Given the description of an element on the screen output the (x, y) to click on. 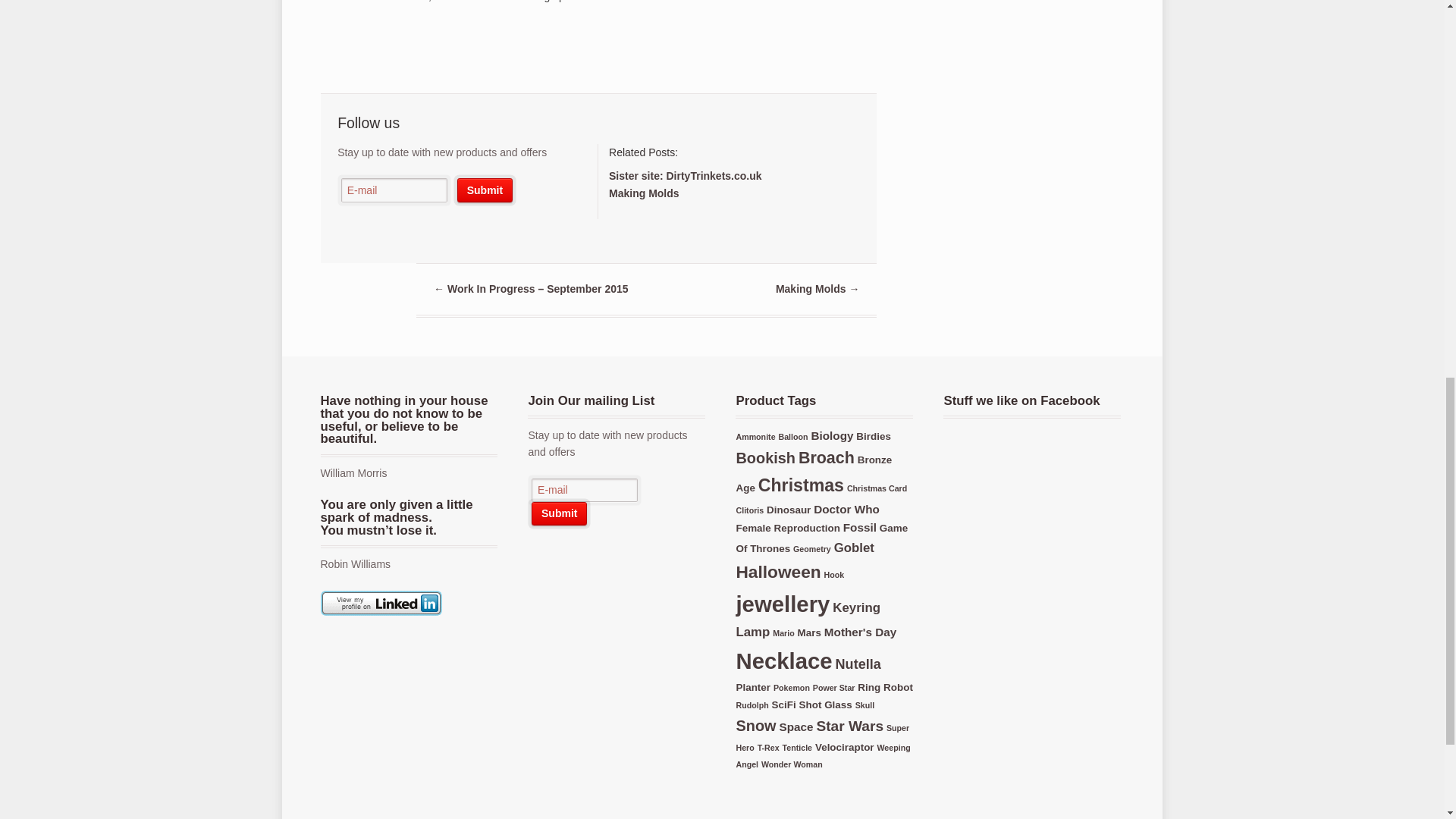
Twitter (349, 229)
Making Molds (643, 193)
Facebook (376, 229)
Twitter (539, 553)
Making Molds (643, 193)
Submit (484, 189)
E-mail (584, 490)
Ammonite (754, 436)
Submit (558, 513)
Submit (558, 513)
